Given the description of an element on the screen output the (x, y) to click on. 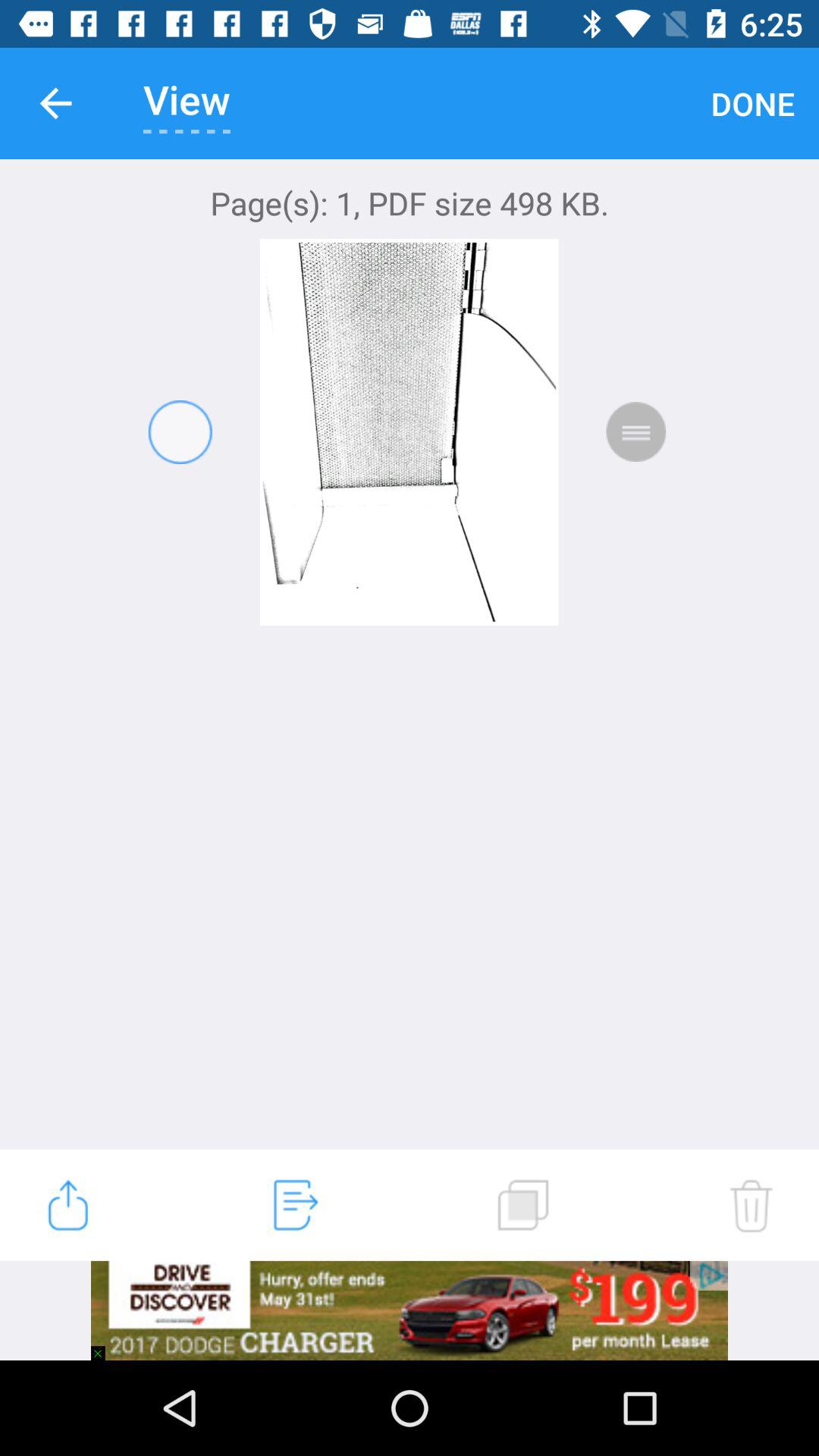
turn off item next to the view item (55, 103)
